Given the description of an element on the screen output the (x, y) to click on. 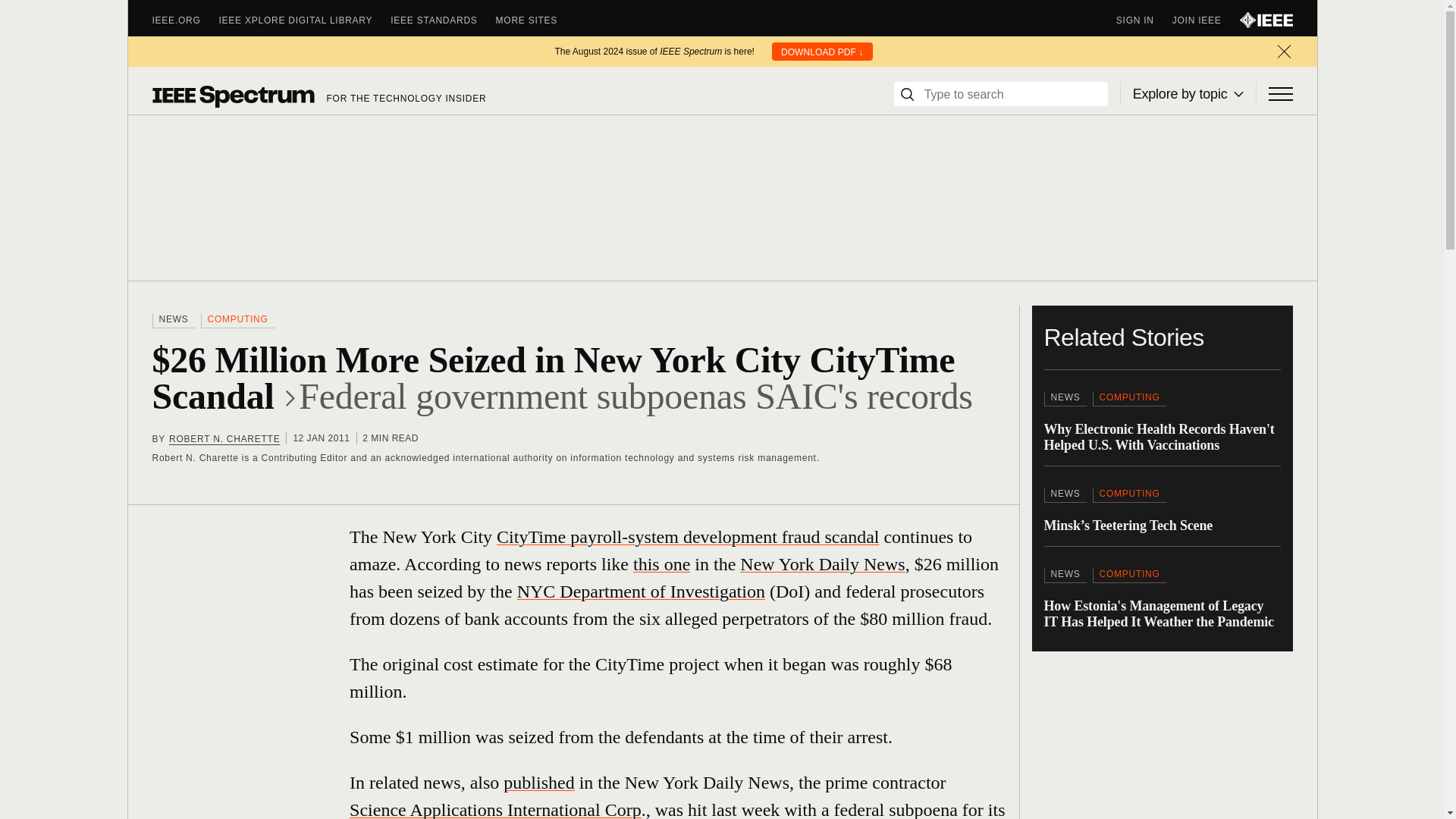
IEEE XPLORE DIGITAL LIBRARY (305, 20)
Close bar (1283, 51)
IEEE.ORG (184, 20)
MORE SITES (536, 20)
Search (907, 93)
JOIN IEEE (1206, 20)
IEEE STANDARDS (442, 20)
Spectrum Logo (232, 95)
SIGN IN (1144, 20)
